Given the description of an element on the screen output the (x, y) to click on. 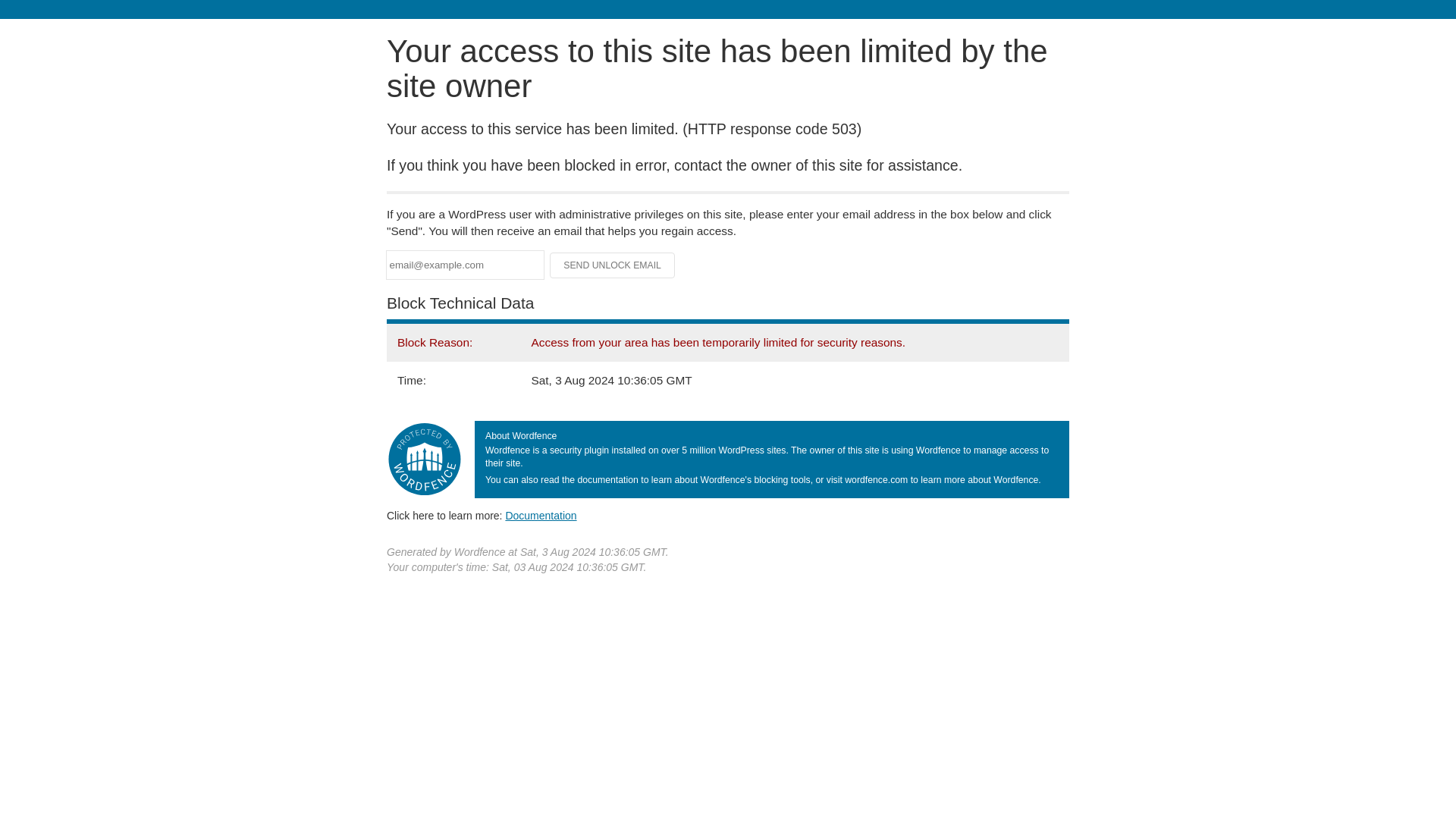
Send Unlock Email (612, 265)
Send Unlock Email (612, 265)
Documentation (540, 515)
